Given the description of an element on the screen output the (x, y) to click on. 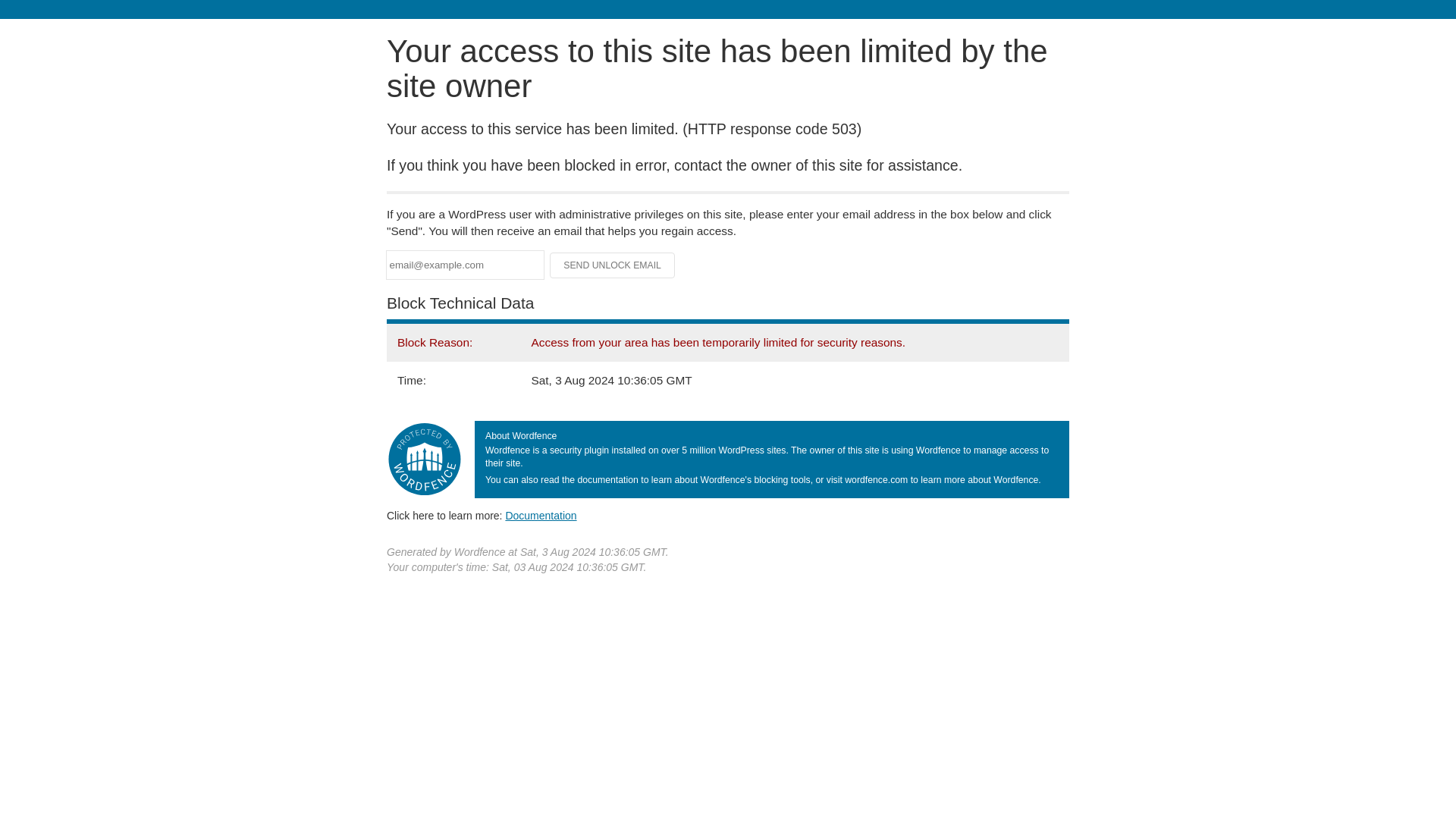
Send Unlock Email (612, 265)
Send Unlock Email (612, 265)
Documentation (540, 515)
